Given the description of an element on the screen output the (x, y) to click on. 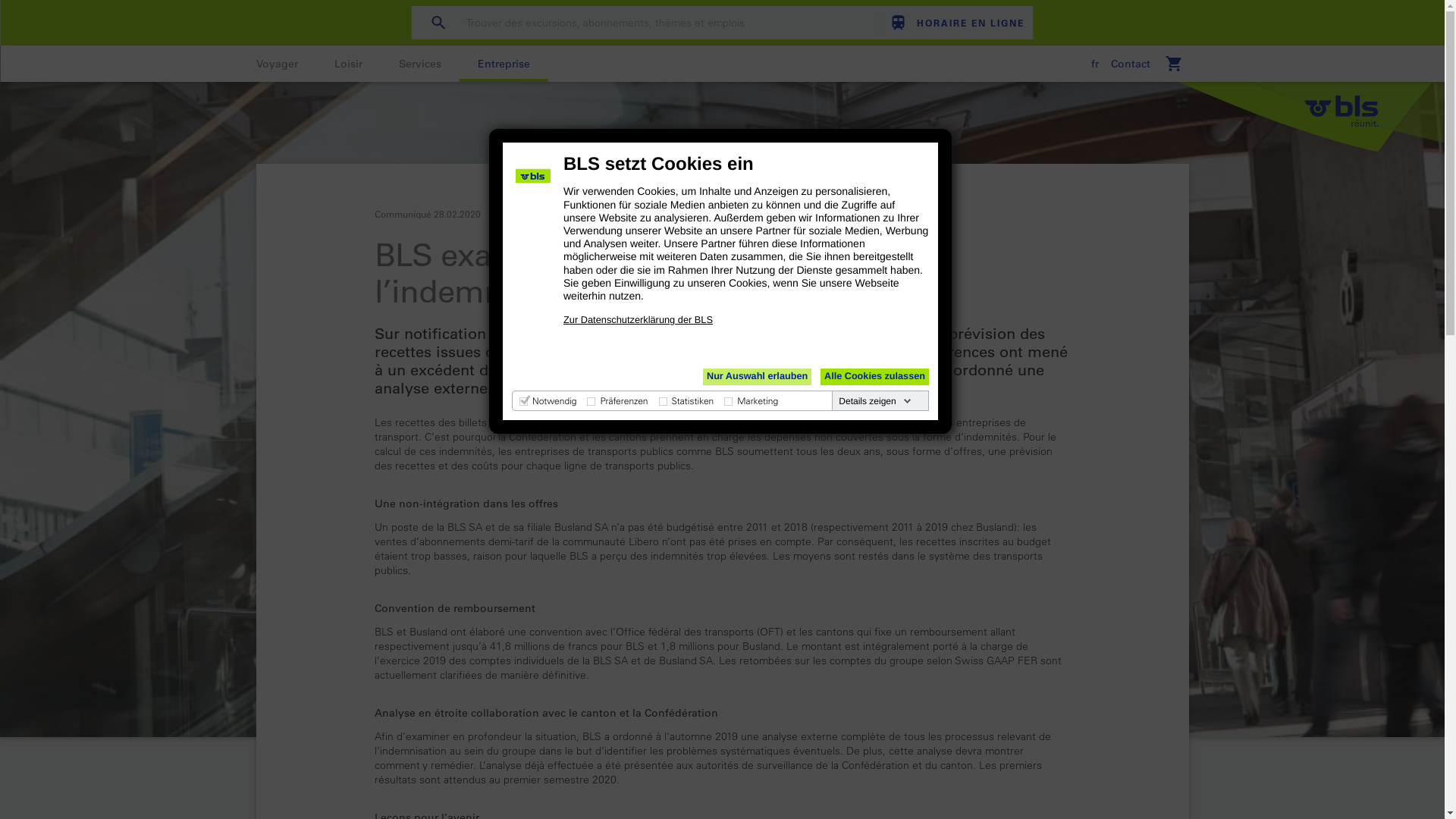
Services Element type: text (419, 63)
Alle Cookies zulassen Element type: text (874, 376)
Entreprise Element type: text (503, 63)
Contact Element type: text (1129, 63)
Details zeigen Element type: text (874, 401)
Accueil Element type: text (1311, 116)
Voyager Element type: text (277, 63)
Loisir Element type: text (347, 63)
Nur Auswahl erlauben Element type: text (756, 376)
fr Element type: text (1093, 63)
HORAIRE EN LIGNE Element type: text (951, 22)
